Given the description of an element on the screen output the (x, y) to click on. 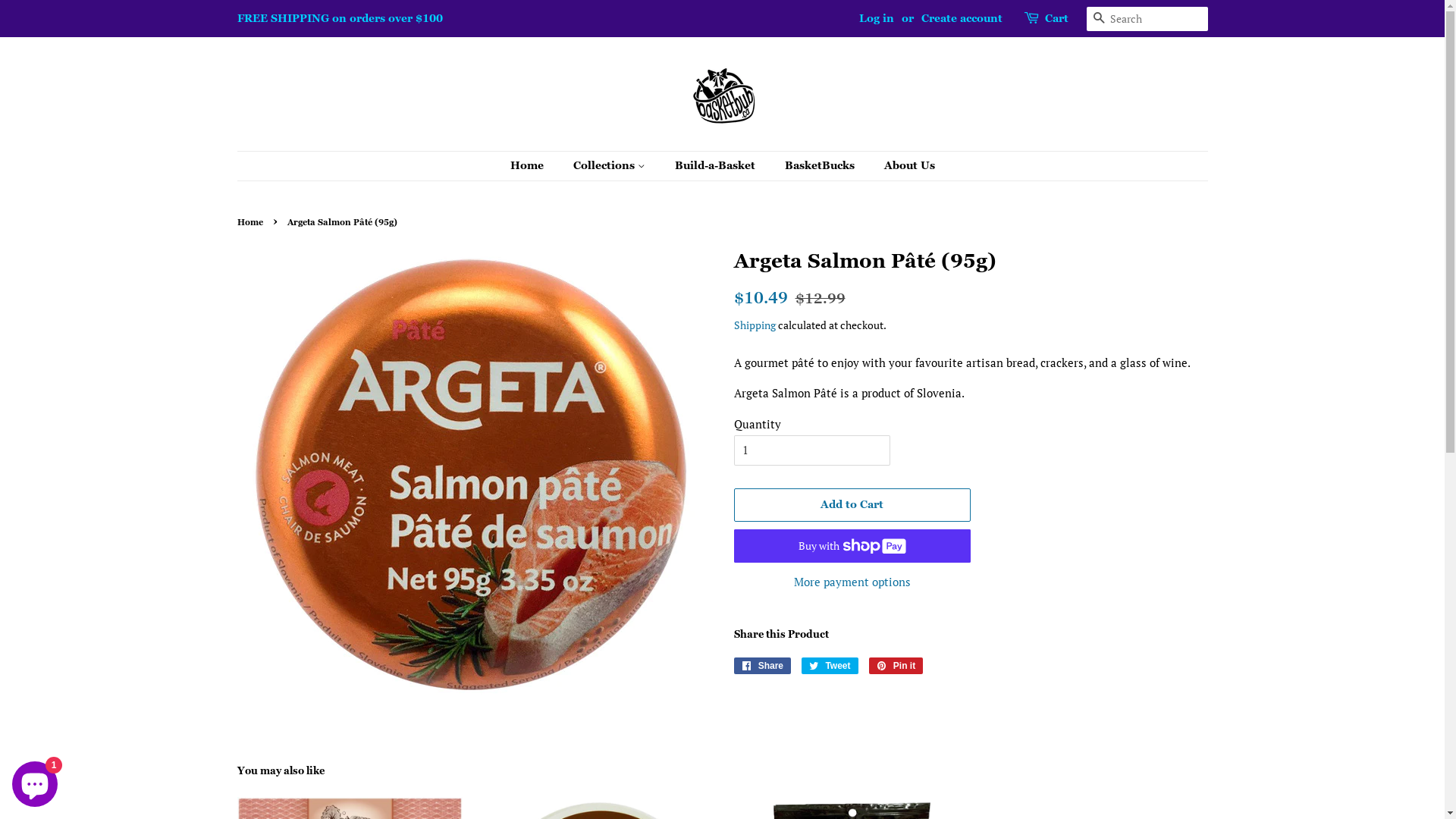
About Us Element type: text (903, 165)
Shipping Element type: text (754, 324)
Build-a-Basket Element type: text (715, 165)
Create account Element type: text (960, 18)
More payment options Element type: text (852, 581)
Shopify online store chat Element type: hover (34, 780)
Pin it
Pin on Pinterest Element type: text (896, 665)
Log in Element type: text (875, 18)
Add to Cart Element type: text (852, 504)
Tweet
Tweet on Twitter Element type: text (829, 665)
Share
Share on Facebook Element type: text (762, 665)
Search Element type: text (1097, 18)
Home Element type: text (251, 221)
Cart Element type: text (1056, 18)
BasketBucks Element type: text (821, 165)
Home Element type: text (533, 165)
Collections Element type: text (610, 165)
